Given the description of an element on the screen output the (x, y) to click on. 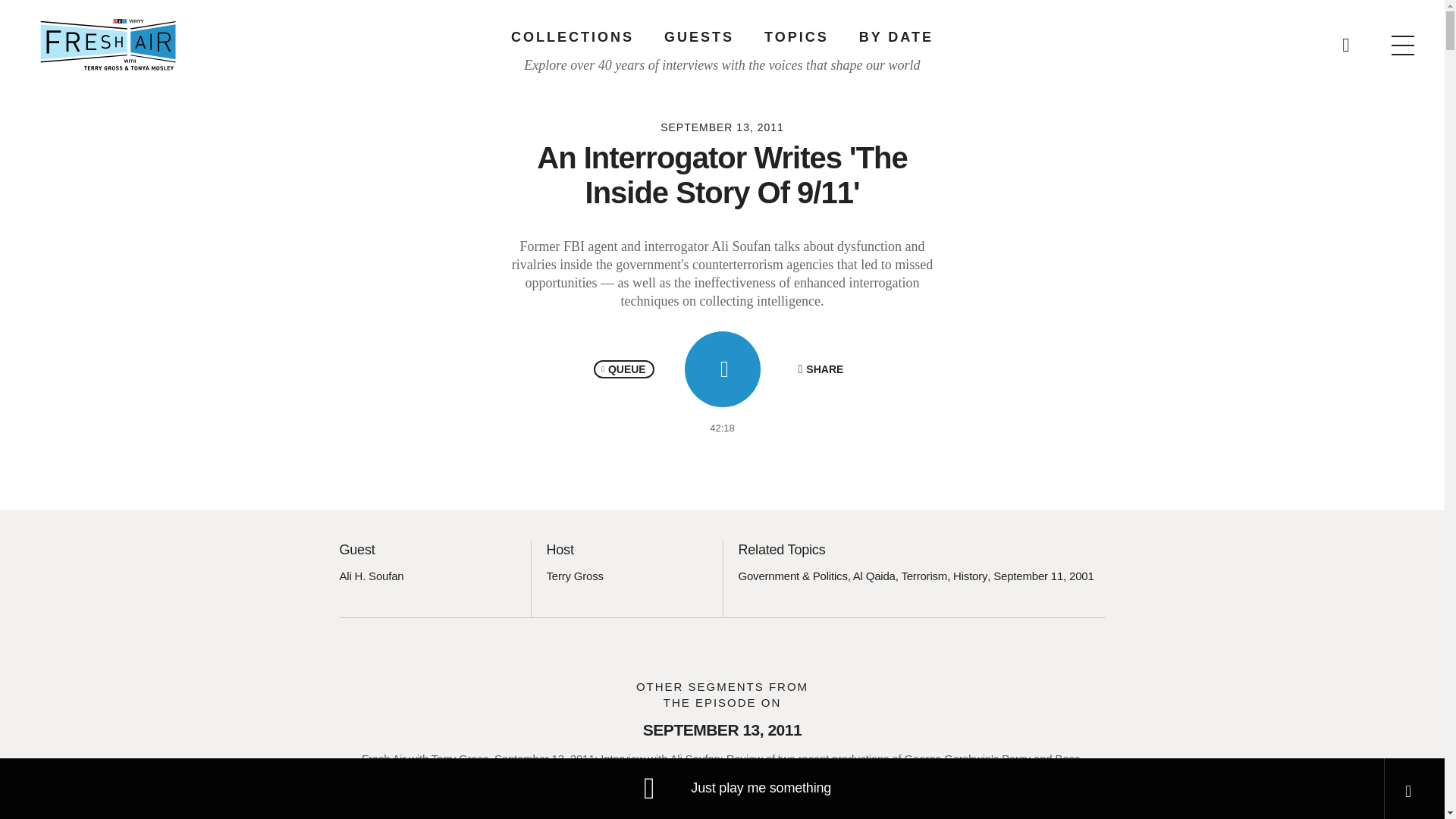
BY DATE (896, 36)
Home (108, 44)
TOPICS (796, 36)
Ali H. Soufan (371, 575)
GUESTS (698, 36)
Search (964, 37)
QUEUE (622, 369)
SHARE (820, 369)
Terry Gross (574, 575)
